Given the description of an element on the screen output the (x, y) to click on. 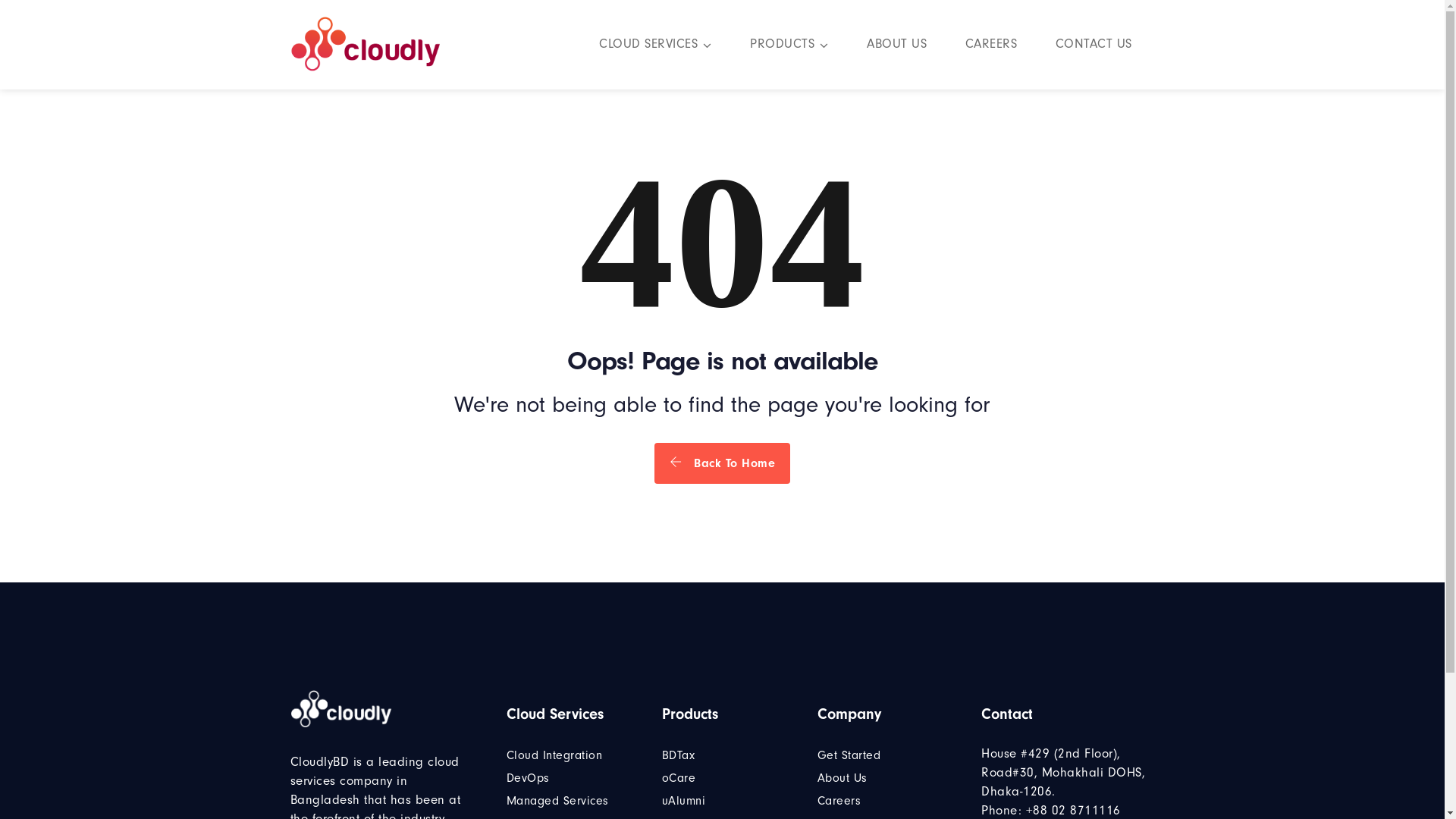
About Us Element type: text (842, 777)
CAREERS Element type: text (990, 45)
uAlumni Element type: text (684, 800)
CONTACT US Element type: text (1093, 45)
oCare Element type: text (679, 777)
DevOps Element type: text (527, 777)
BDTax Element type: text (678, 755)
Managed Services Element type: text (557, 800)
Careers Element type: text (839, 800)
CLOUD SERVICES Element type: text (655, 45)
Back To Home Element type: text (722, 462)
ABOUT US Element type: text (896, 45)
PRODUCTS Element type: text (788, 45)
Cloud Integration Element type: text (554, 755)
Get Started Element type: text (849, 755)
